Given the description of an element on the screen output the (x, y) to click on. 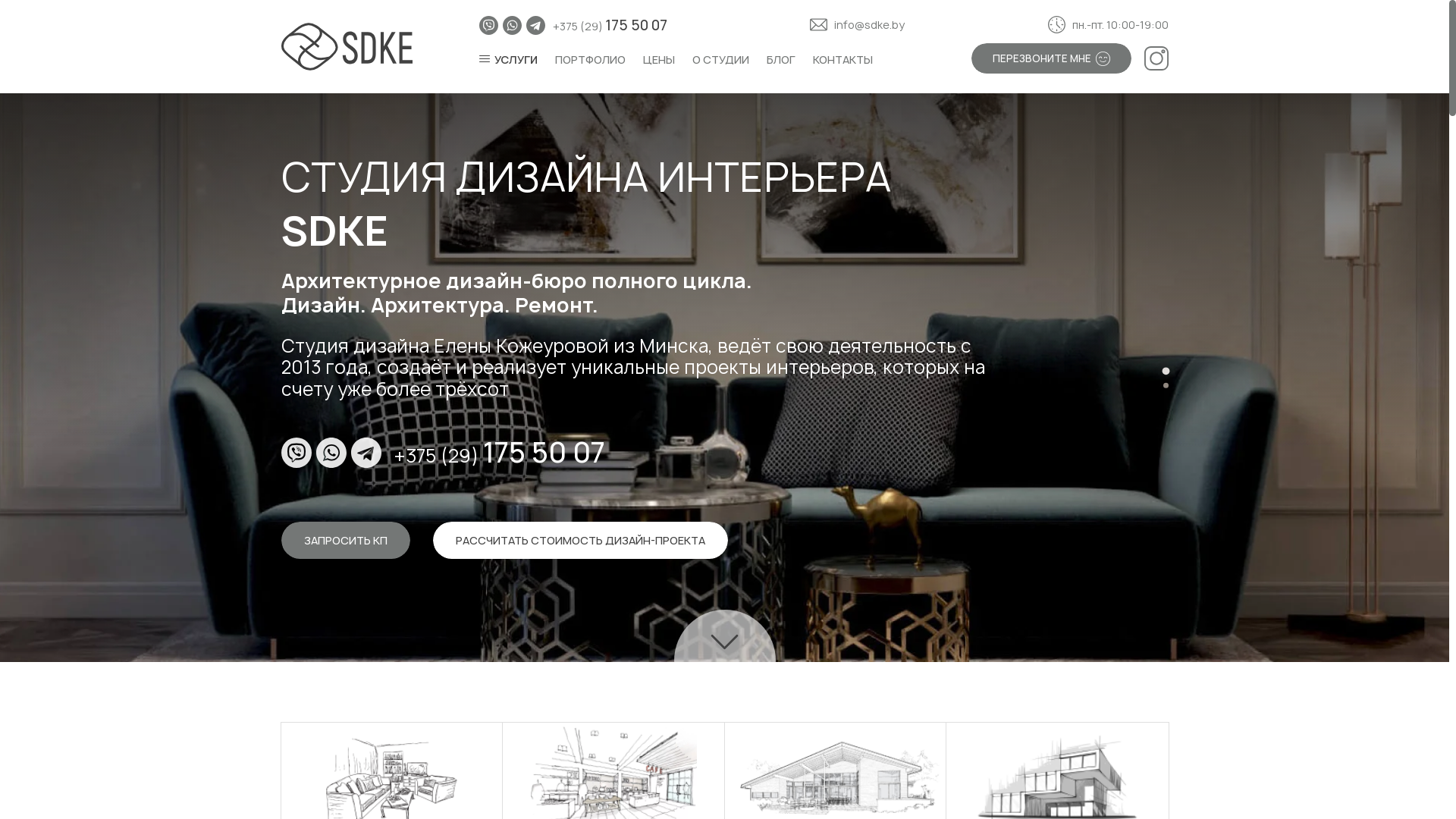
+375 (29) 175 50 07 Element type: text (609, 25)
info@sdke.by Element type: text (856, 24)
+375 (29) 175 50 07 Element type: text (499, 452)
